Given the description of an element on the screen output the (x, y) to click on. 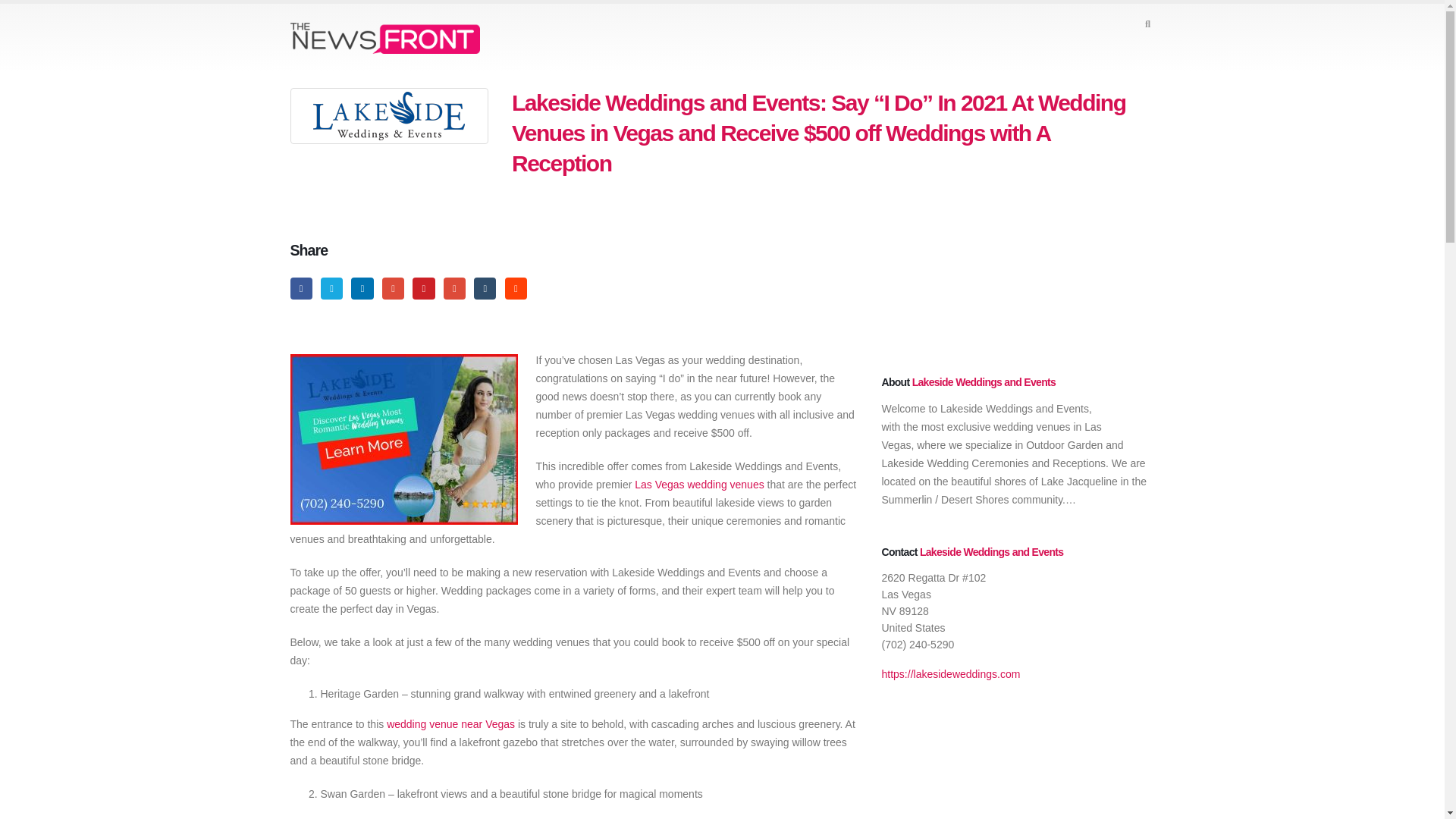
Tumblr (485, 288)
Lakeside Weddings and Events (983, 381)
Facebook (300, 288)
Las Vegas wedding venues (698, 484)
Lakeside Weddings and Events (991, 551)
Reddit (516, 288)
LinkedIn (361, 288)
Twitter (331, 288)
Latest News on The News Front -  (384, 37)
Email (454, 288)
Pinterest (422, 288)
wedding venue near Vegas (451, 724)
